Given the description of an element on the screen output the (x, y) to click on. 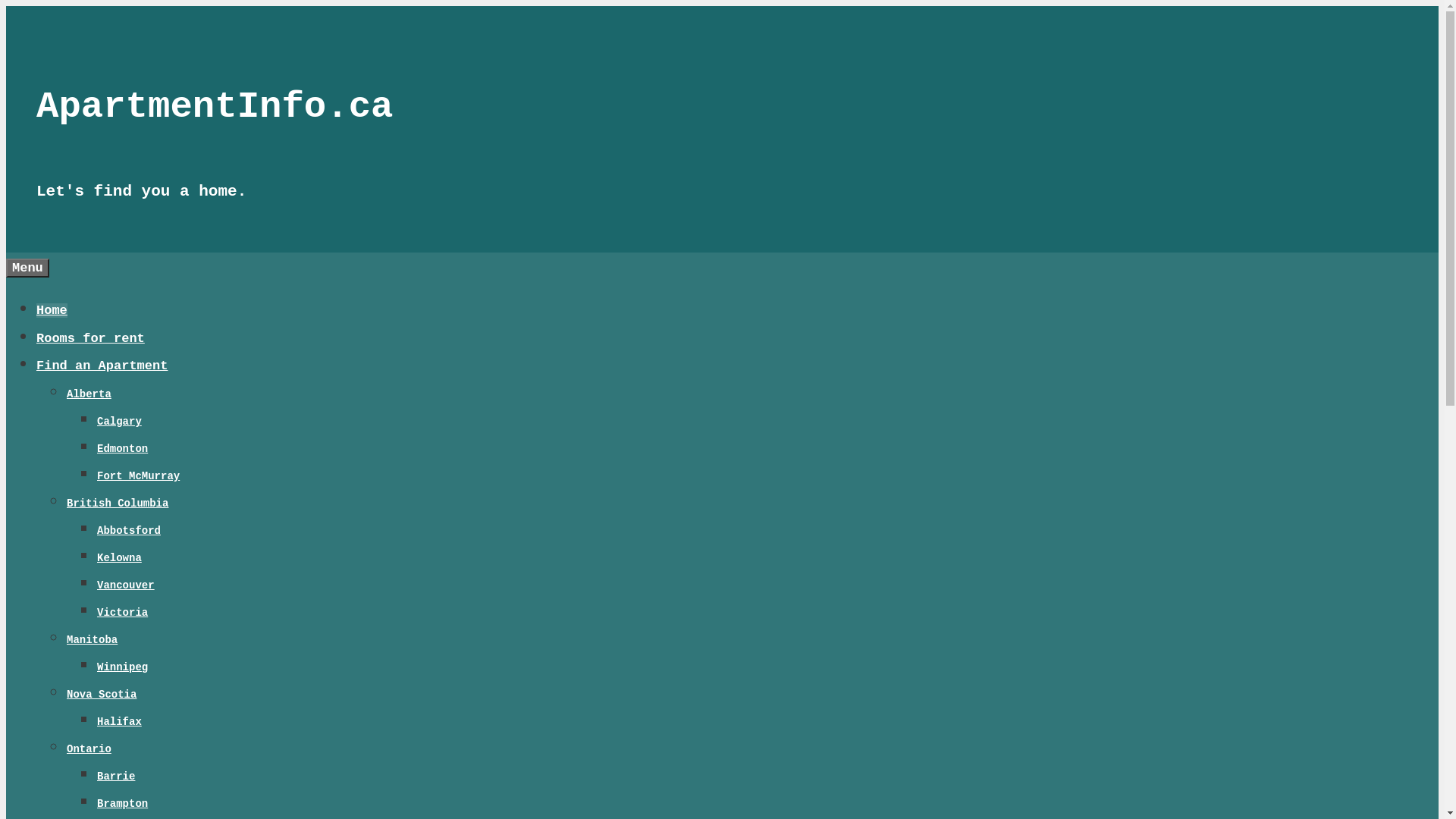
Skip to content Element type: text (5, 5)
British Columbia Element type: text (117, 503)
Edmonton Element type: text (122, 448)
Calgary Element type: text (119, 421)
ApartmentInfo.ca Element type: text (214, 106)
Abbotsford Element type: text (128, 530)
Halifax Element type: text (119, 721)
Nova Scotia Element type: text (101, 694)
Vancouver Element type: text (125, 585)
Barrie Element type: text (115, 776)
Victoria Element type: text (122, 612)
Brampton Element type: text (122, 803)
Ontario Element type: text (88, 749)
Alberta Element type: text (88, 394)
Menu Element type: text (27, 267)
Manitoba Element type: text (91, 639)
Winnipeg Element type: text (122, 667)
Kelowna Element type: text (119, 558)
Fort McMurray Element type: text (138, 476)
Home Element type: text (51, 310)
Find an Apartment Element type: text (101, 365)
Rooms for rent Element type: text (90, 338)
